Given the description of an element on the screen output the (x, y) to click on. 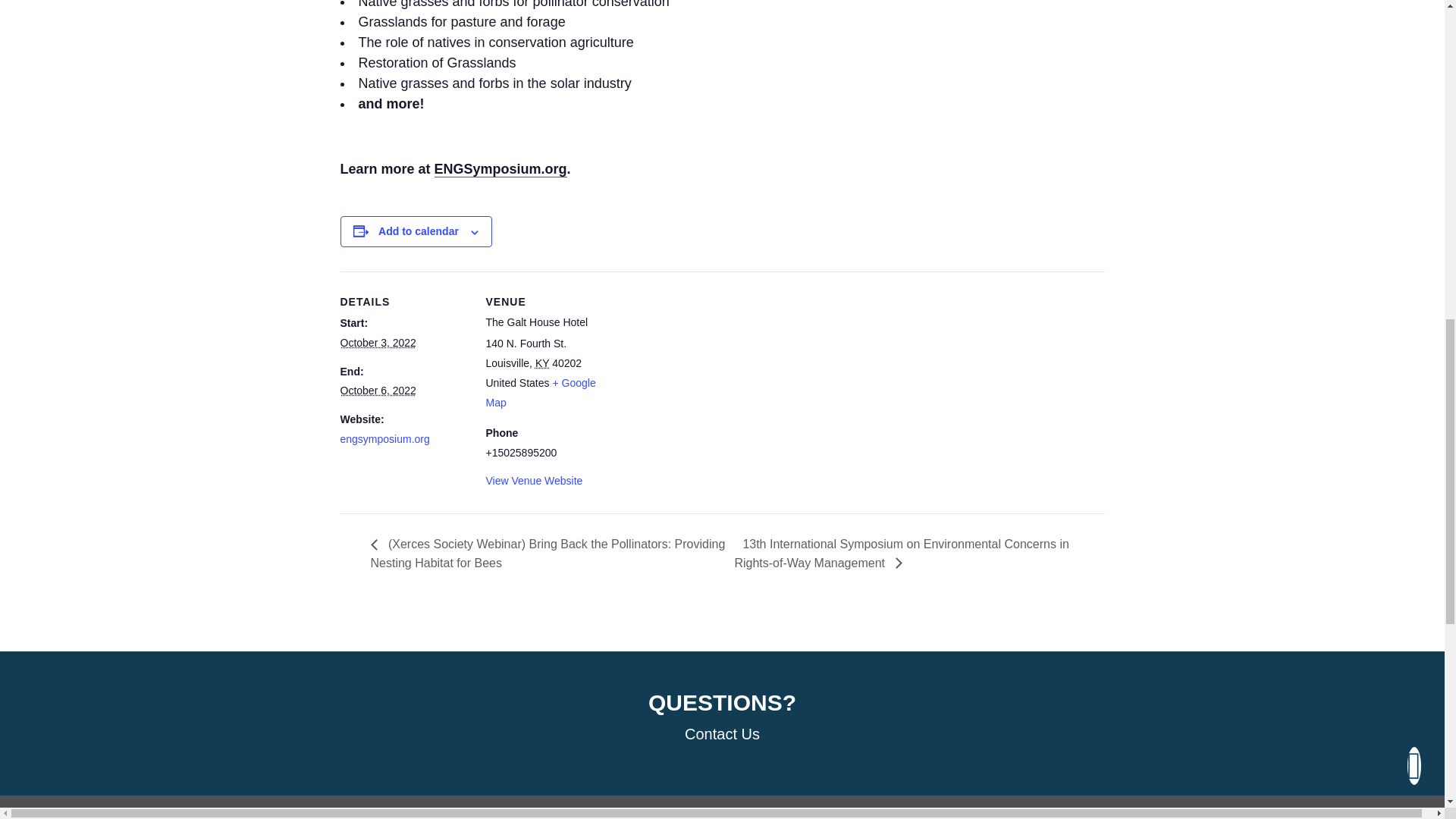
2022-10-03 (376, 342)
Kentucky (541, 363)
2022-10-06 (376, 390)
Click to view a Google Map (539, 392)
